Given the description of an element on the screen output the (x, y) to click on. 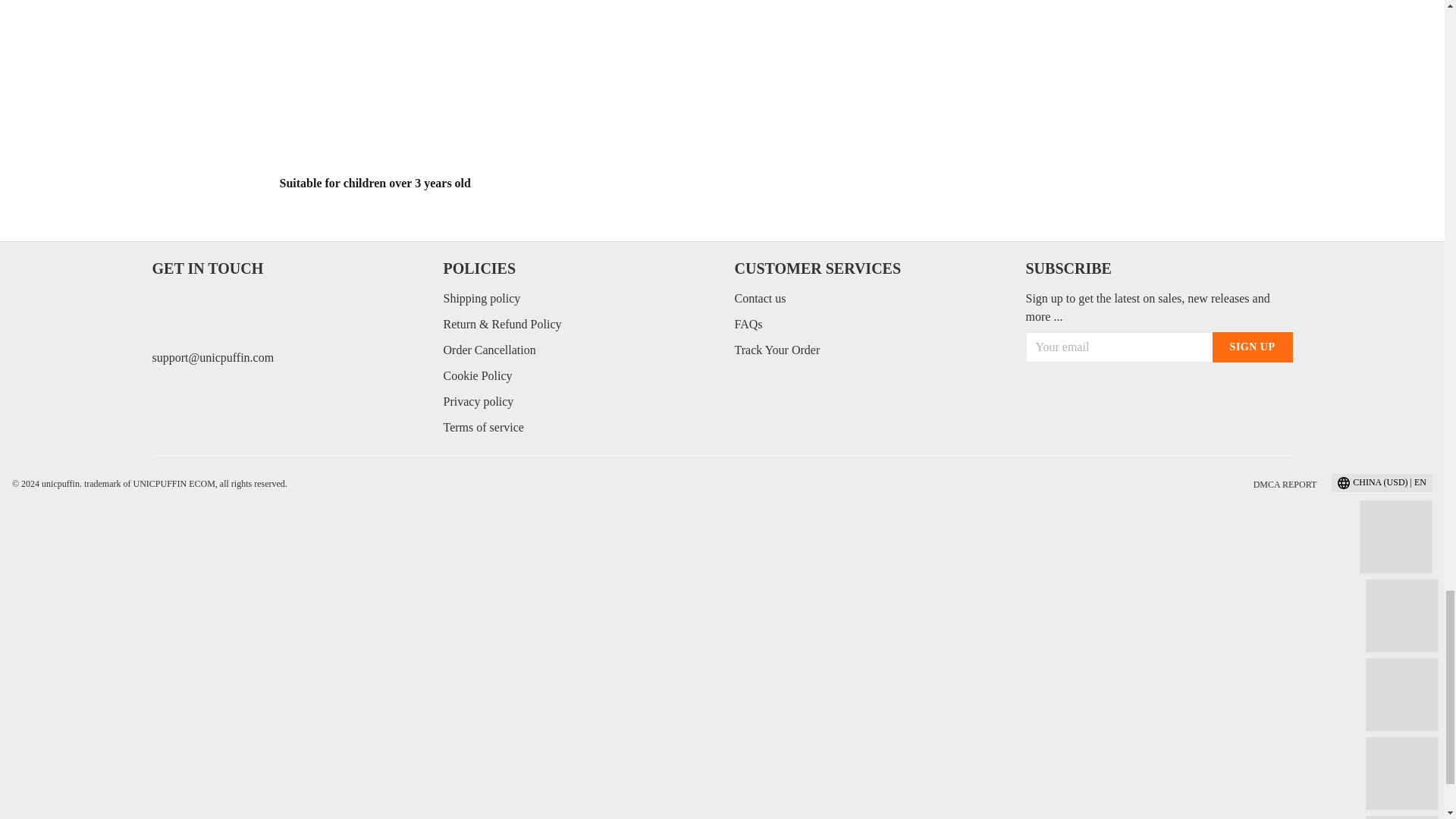
Shipping policy (480, 297)
DMCA REPORT (1285, 484)
SIGN UP (1252, 347)
Contact us (759, 297)
Order Cancellation (488, 349)
FAQs (747, 323)
Terms of service (482, 427)
Cookie Policy (477, 375)
Track Your Order (776, 349)
Privacy policy (477, 400)
